Given the description of an element on the screen output the (x, y) to click on. 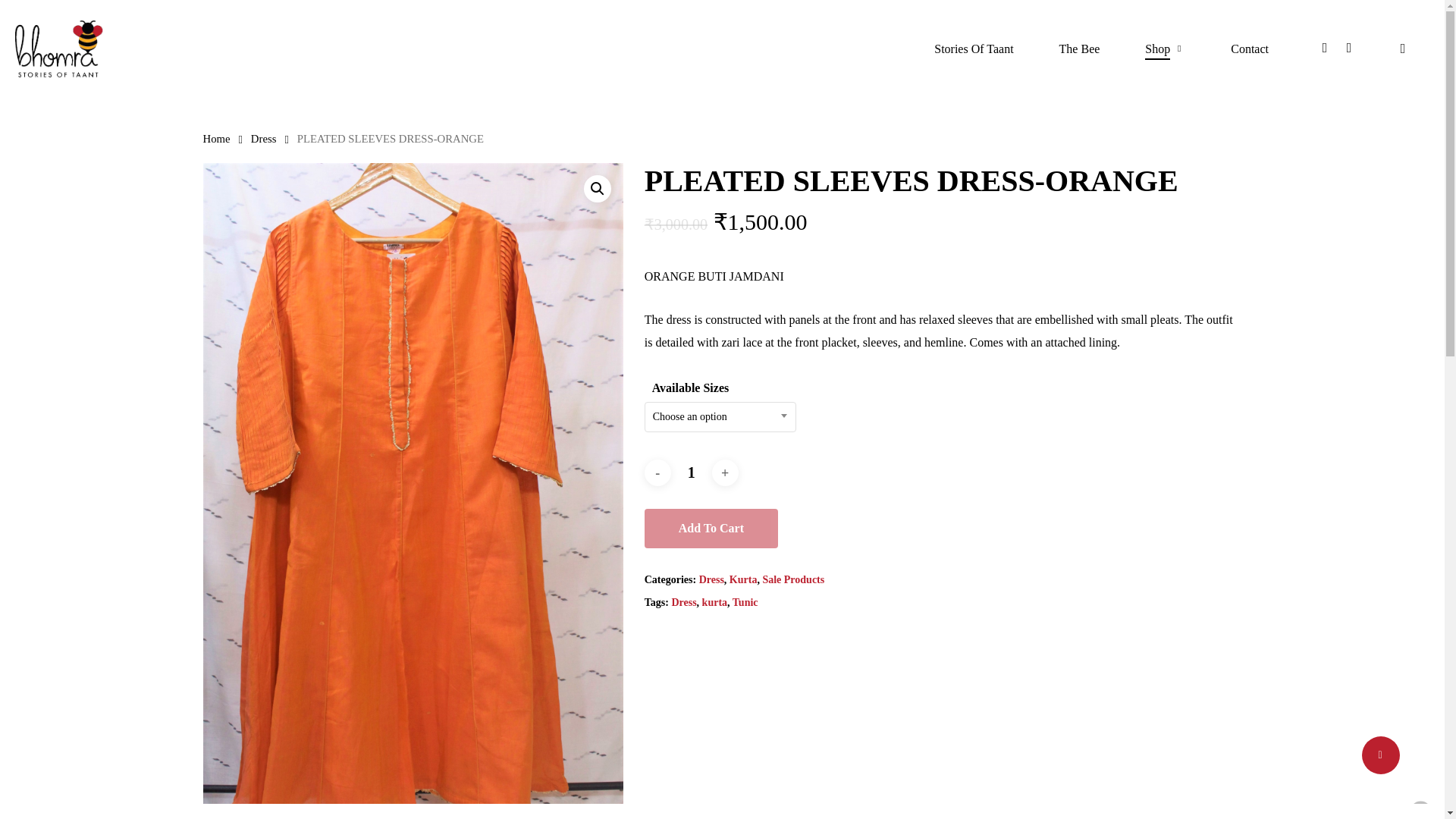
Choose an option (719, 416)
1 (691, 472)
The Bee (1079, 48)
Stories Of Taant (973, 48)
- (658, 472)
Shop (1164, 48)
